Given the description of an element on the screen output the (x, y) to click on. 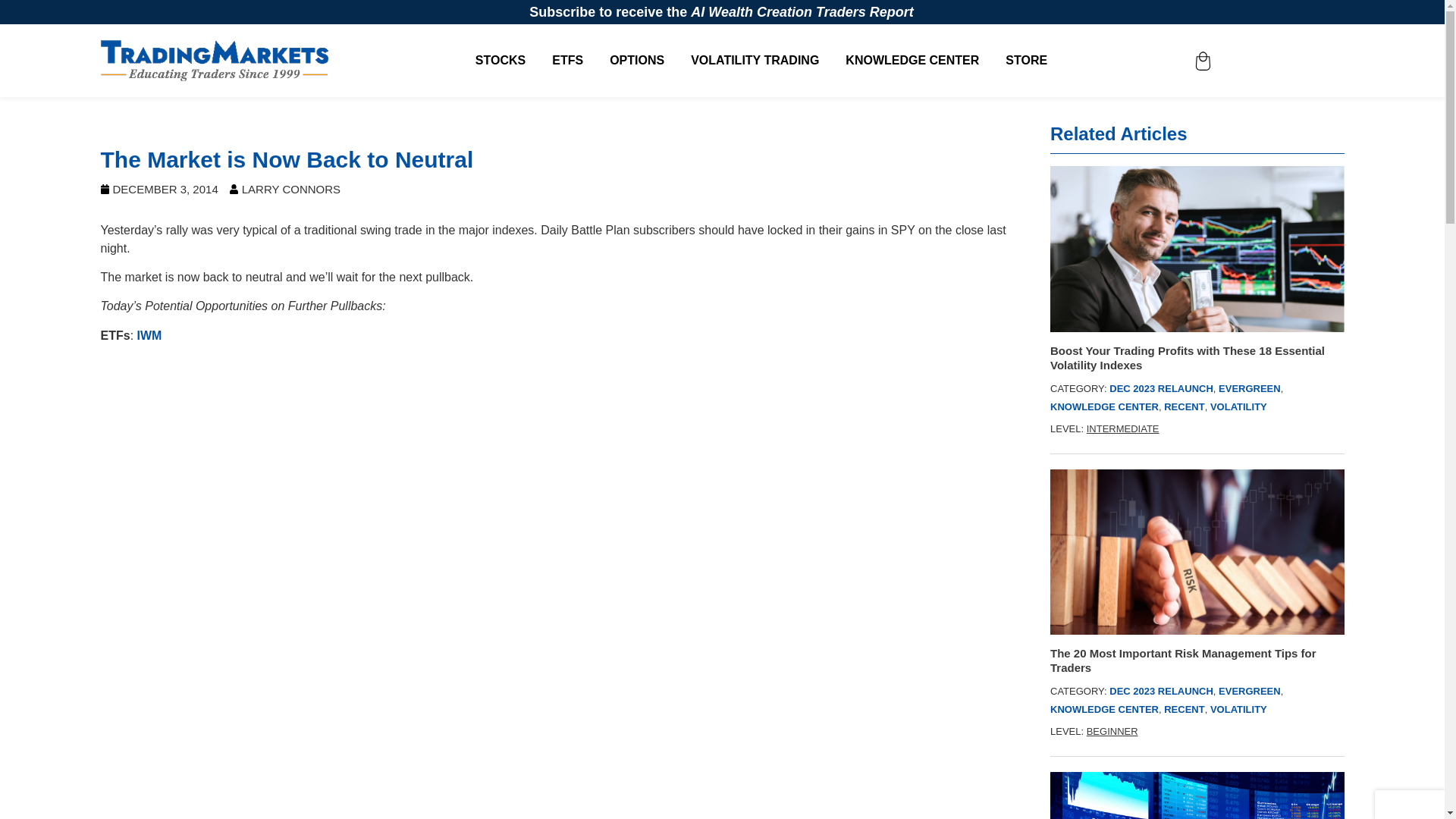
RECENT (1183, 708)
INTERMEDIATE (1122, 428)
The 20 Most Important Risk Management Tips for Traders (1196, 660)
VOLATILITY TRADING (754, 60)
RECENT (1183, 406)
KNOWLEDGE CENTER (1103, 406)
KNOWLEDGE CENTER (911, 60)
BEGINNER (1112, 731)
VOLATILITY (1237, 708)
KNOWLEDGE CENTER (1103, 708)
